Given the description of an element on the screen output the (x, y) to click on. 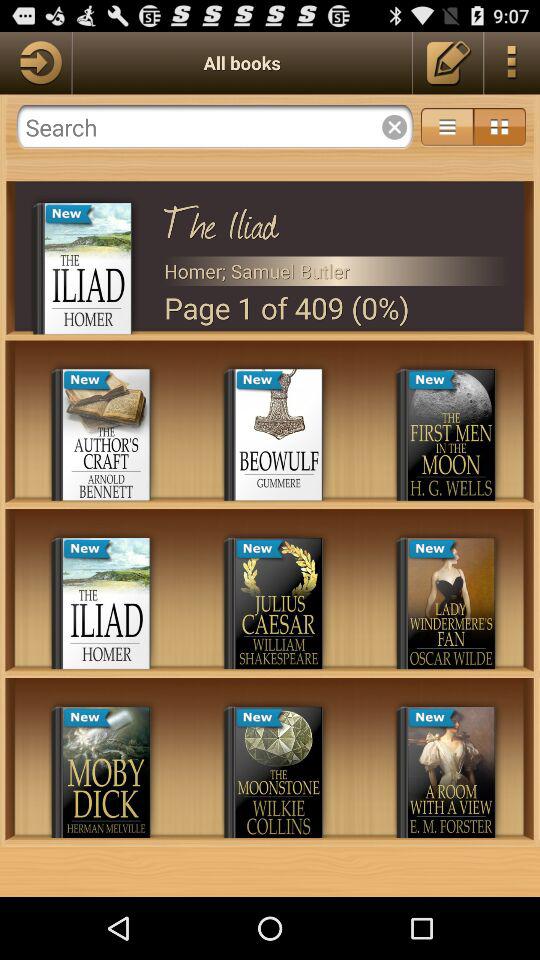
go to close (214, 127)
